Given the description of an element on the screen output the (x, y) to click on. 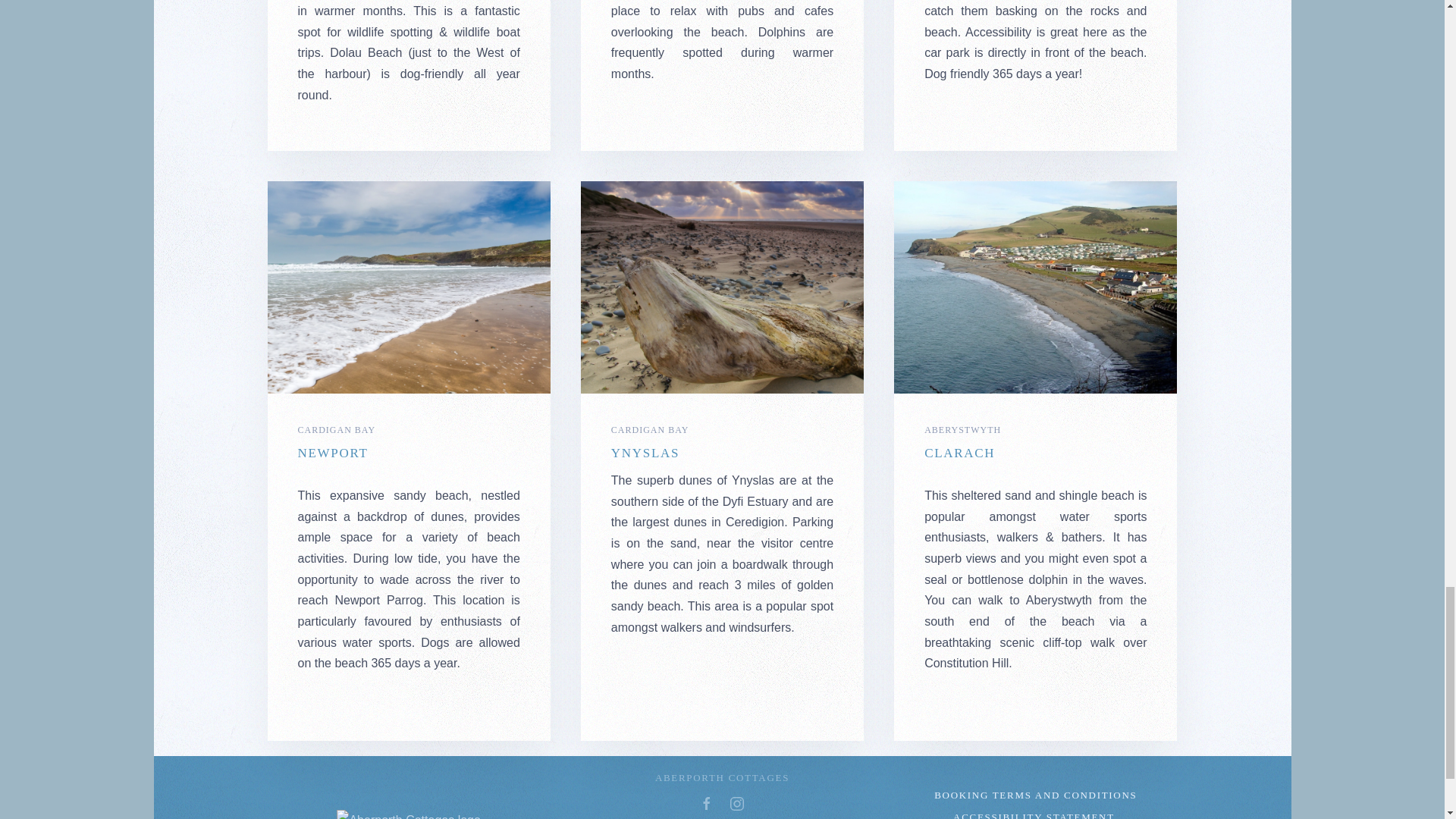
BOOKING TERMS AND CONDITIONS (1034, 795)
ACCESSIBILITY STATEMENT  (1034, 814)
